Given the description of an element on the screen output the (x, y) to click on. 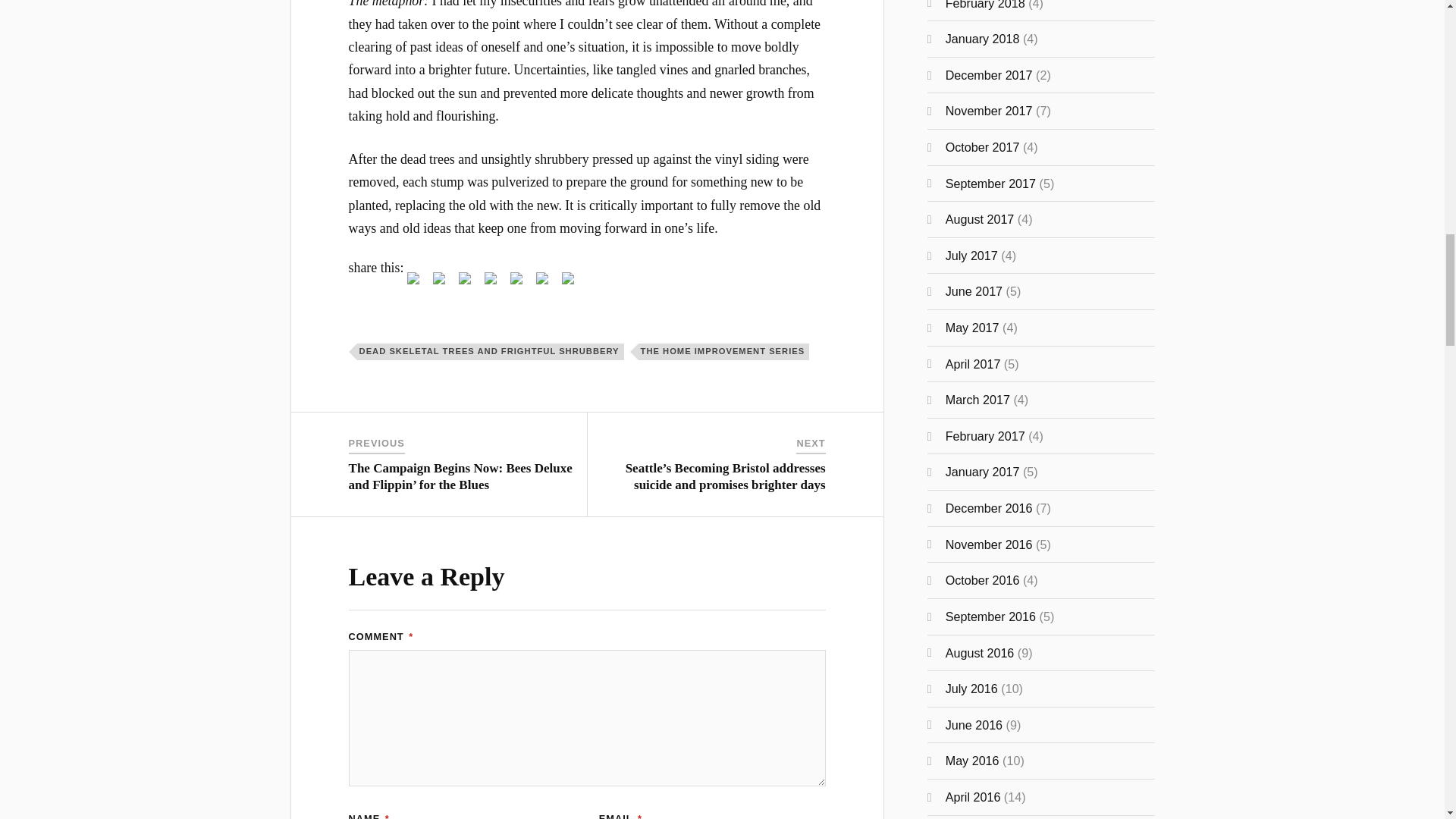
Share on Linkedin (519, 280)
Share on tumblr (544, 280)
Share on Reddit (467, 280)
Share on Reddit (464, 277)
Share by email (567, 277)
THE HOME IMPROVEMENT SERIES (724, 351)
Pin it with Pinterest (490, 277)
Share on Twitter (441, 280)
Share on tumblr (541, 277)
Share by email (570, 280)
